Given the description of an element on the screen output the (x, y) to click on. 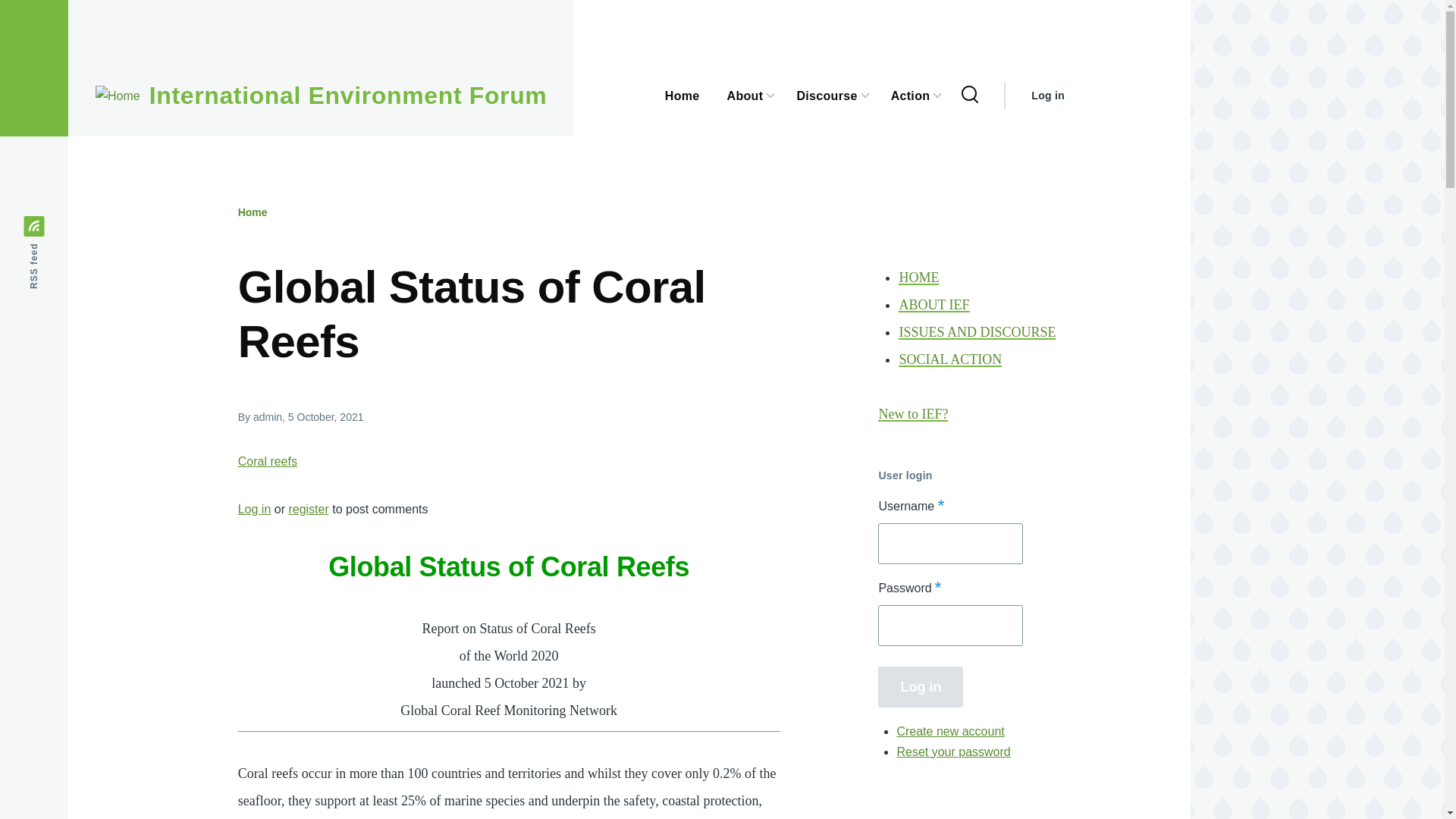
register (308, 508)
Log in (1047, 94)
Home (348, 94)
Skip to main content (595, 6)
International Environment Forum (348, 94)
Log in (919, 685)
Log in (254, 508)
Coral reefs (267, 461)
Home (252, 212)
Send password reset instructions via email. (953, 750)
